Given the description of an element on the screen output the (x, y) to click on. 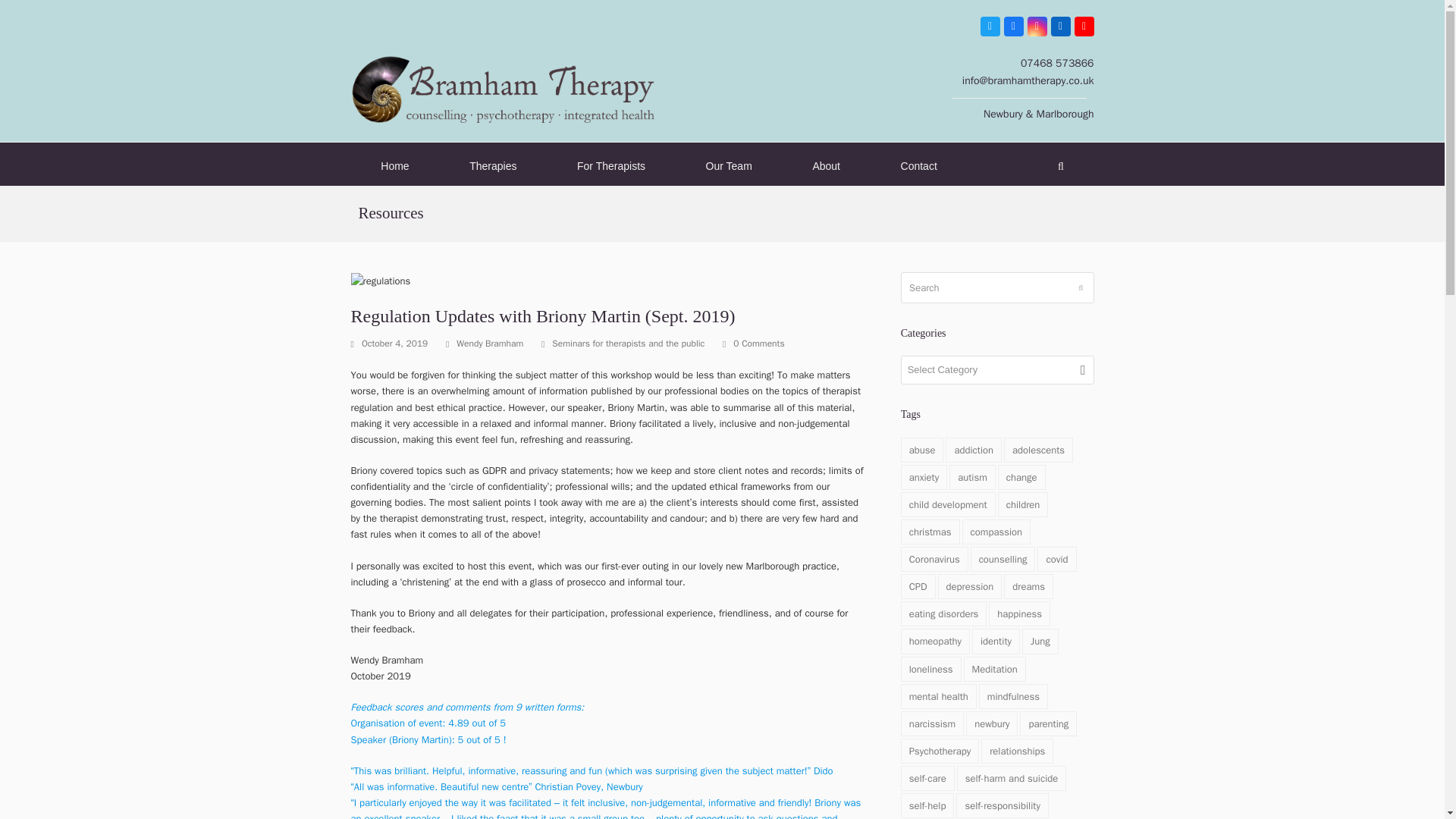
Youtube (1083, 26)
Posts by Wendy Bramham (489, 343)
Facebook (1013, 26)
LinkedIn (1060, 26)
About (826, 166)
Twitter (988, 26)
Contact (919, 166)
Instagram (1036, 26)
07468 573866 (1057, 62)
For Therapists (611, 166)
0 Comments (753, 344)
Our Team (729, 166)
Therapies (493, 166)
Home (394, 166)
